Given the description of an element on the screen output the (x, y) to click on. 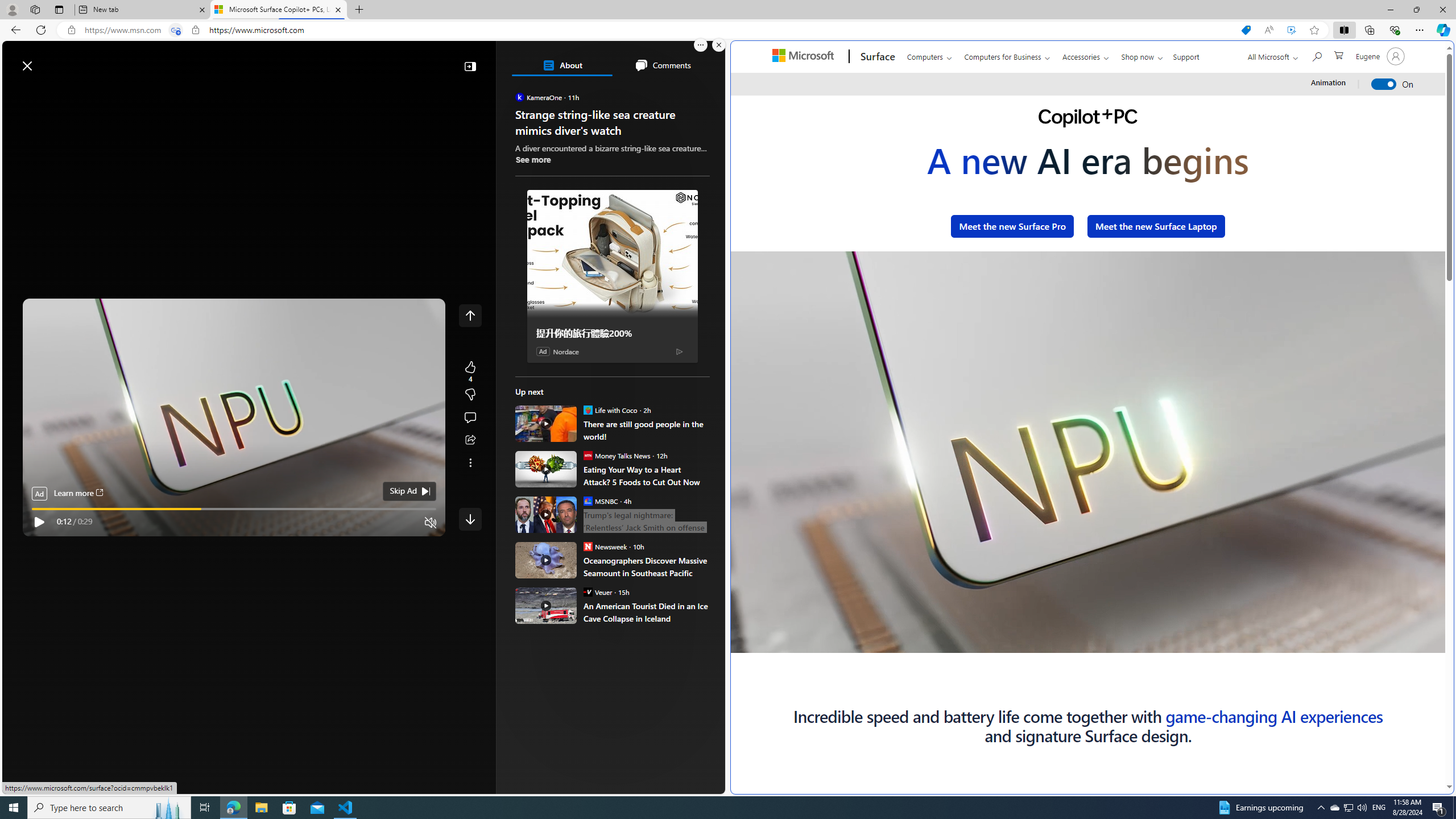
Shopping in Microsoft Edge (1245, 29)
There are still good people in the world! (545, 423)
Enter your search term (366, 59)
Comments (662, 64)
Microsoft rewards (654, 60)
The Associated Press (554, 366)
Tabs in split screen (175, 29)
There are still good people in the world! (646, 430)
Captions (1357, 643)
Newsweek (587, 546)
Pause (762, 621)
